Given the description of an element on the screen output the (x, y) to click on. 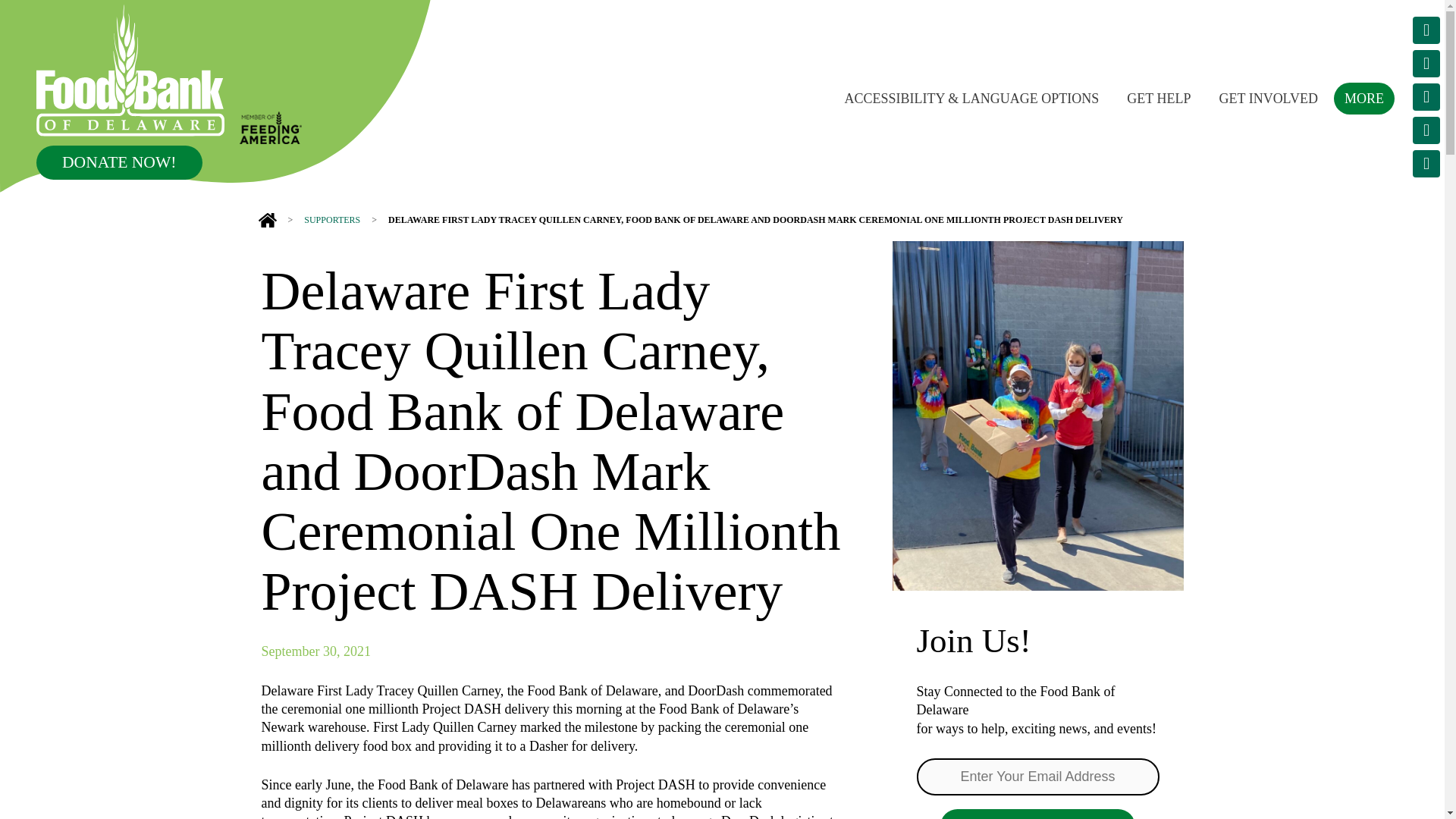
Go To Food Bank Blog (1425, 163)
Go To Facebook (1425, 96)
DONATE NOW! (119, 162)
GET HELP (1158, 96)
GET INVOLVED (1268, 96)
Go To Instagram (1425, 62)
Food Bank of Delaware : Home (130, 70)
Go To Twitter (1425, 30)
STAY CONNECTED (1037, 814)
Go To Youtube (1425, 130)
